Given the description of an element on the screen output the (x, y) to click on. 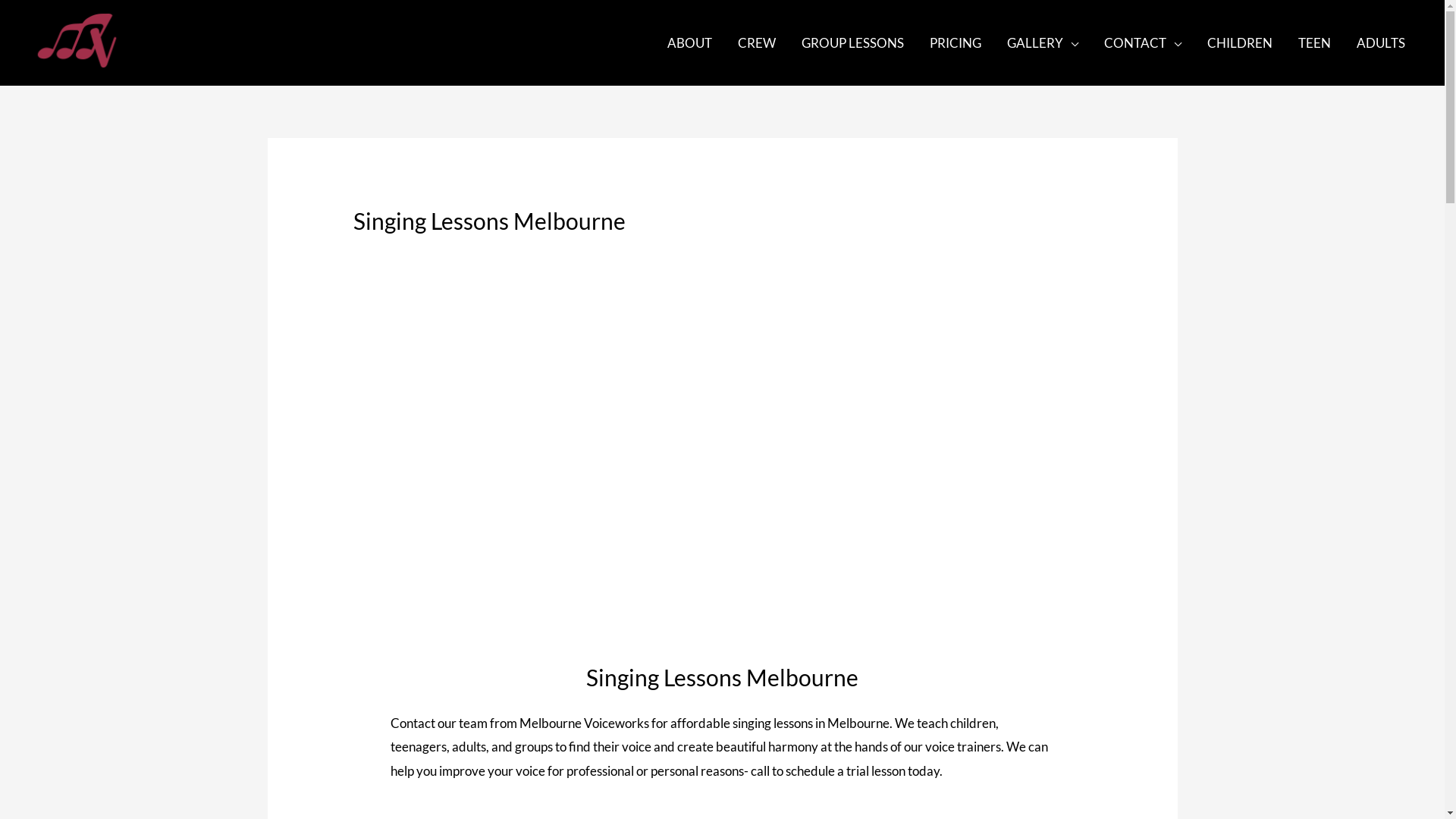
CONTACT Element type: text (1142, 42)
PRICING Element type: text (955, 42)
CHILDREN Element type: text (1239, 42)
TEEN Element type: text (1314, 42)
ABOUT Element type: text (689, 42)
ADULTS Element type: text (1380, 42)
CREW Element type: text (756, 42)
GROUP LESSONS Element type: text (852, 42)
Singing Lessons Melbourne Element type: text (722, 676)
GALLERY Element type: text (1042, 42)
